Given the description of an element on the screen output the (x, y) to click on. 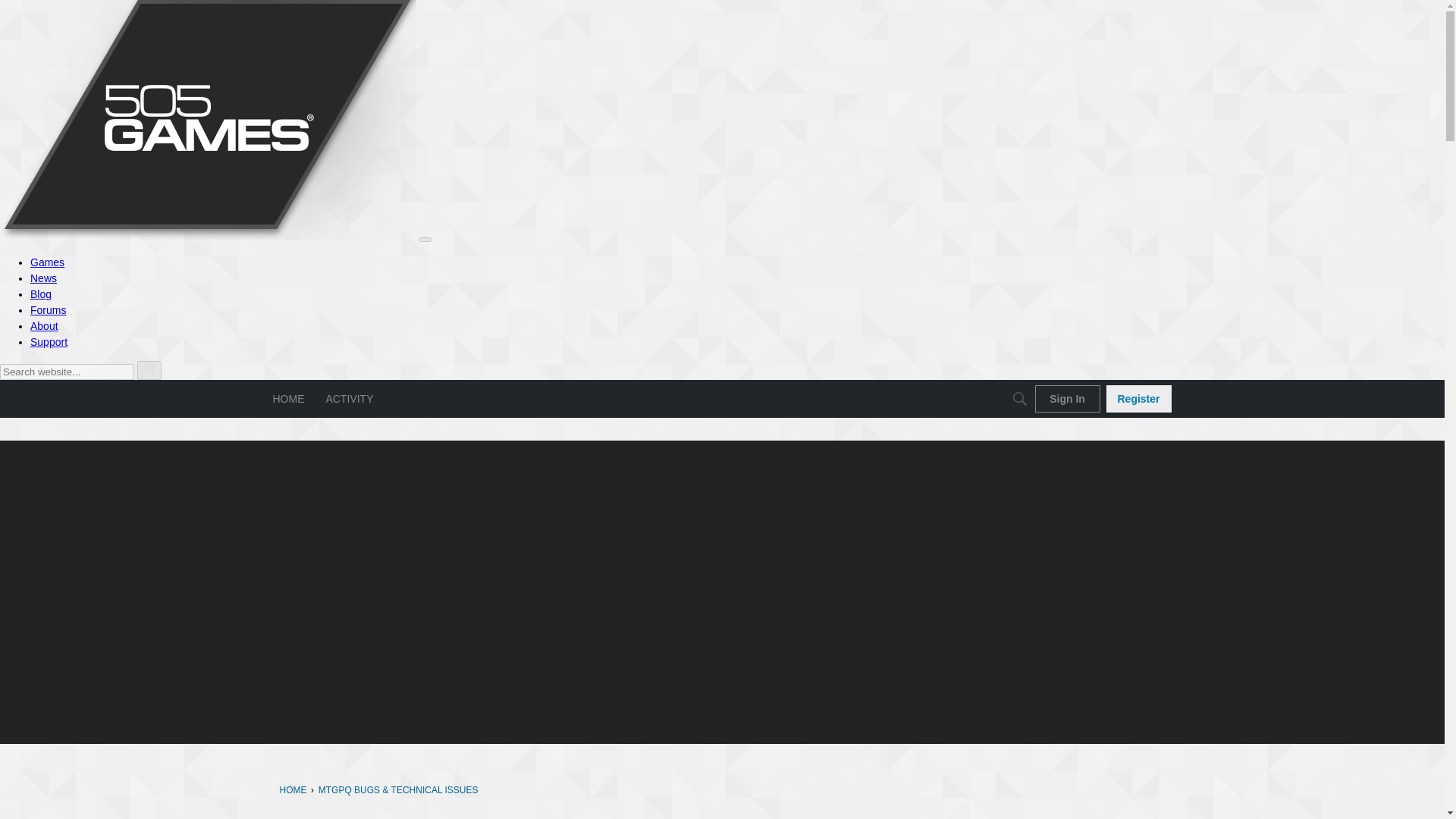
Sign In (1066, 398)
Register (1137, 398)
HOME (292, 789)
Search (1019, 398)
HOME (288, 398)
ACTIVITY (350, 398)
